Given the description of an element on the screen output the (x, y) to click on. 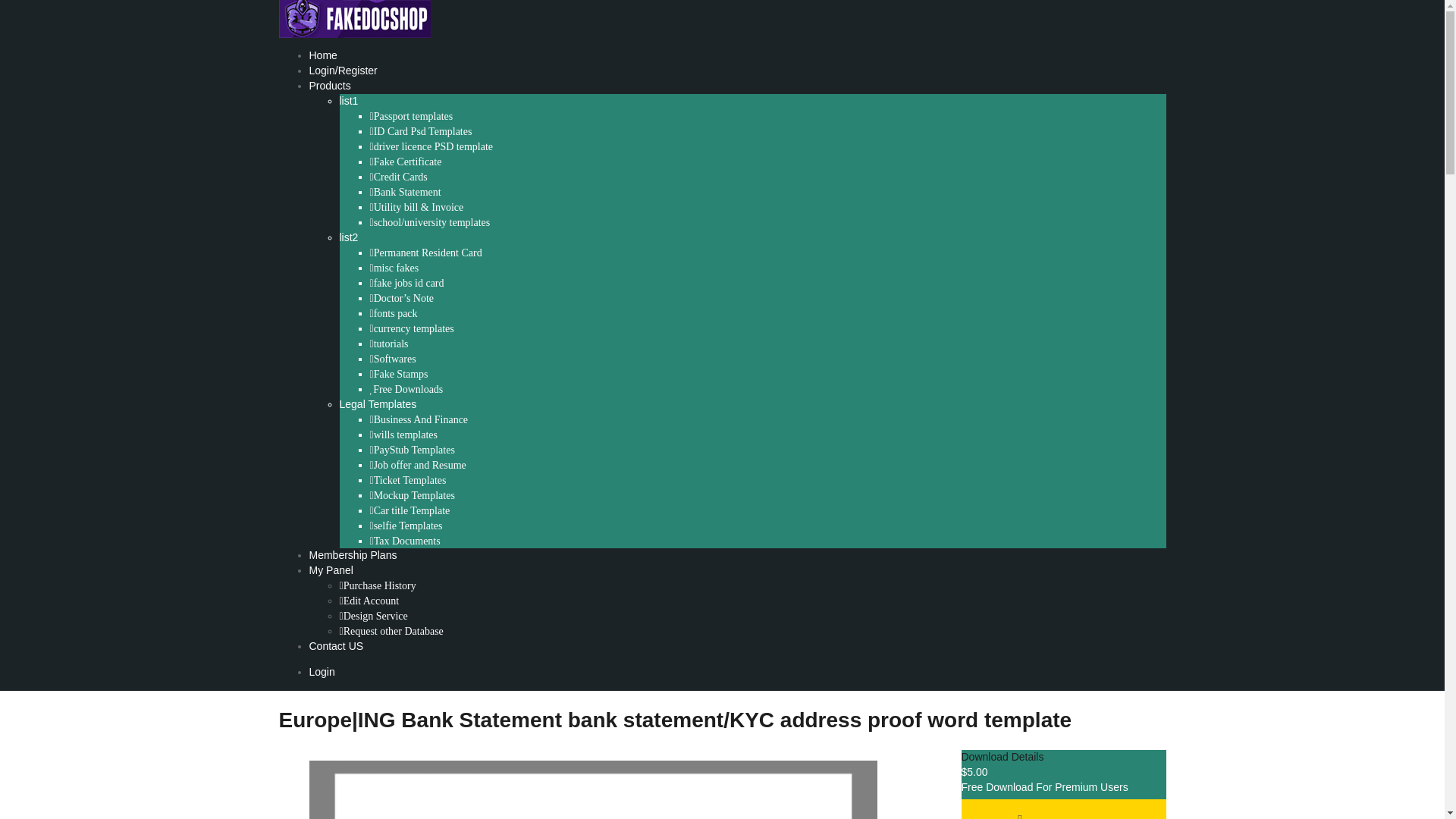
Credit Cards (398, 176)
Free Downloads (406, 389)
Edit Account (368, 601)
list2 (348, 236)
Home (322, 55)
Softwares (392, 358)
Legal Templates (377, 404)
wills templates (403, 434)
Design Service (373, 615)
Products (329, 85)
Membership Plans (352, 554)
Bank Statement (405, 192)
fonts pack (393, 313)
ID Card Psd Templates (420, 131)
My Panel (330, 570)
